Given the description of an element on the screen output the (x, y) to click on. 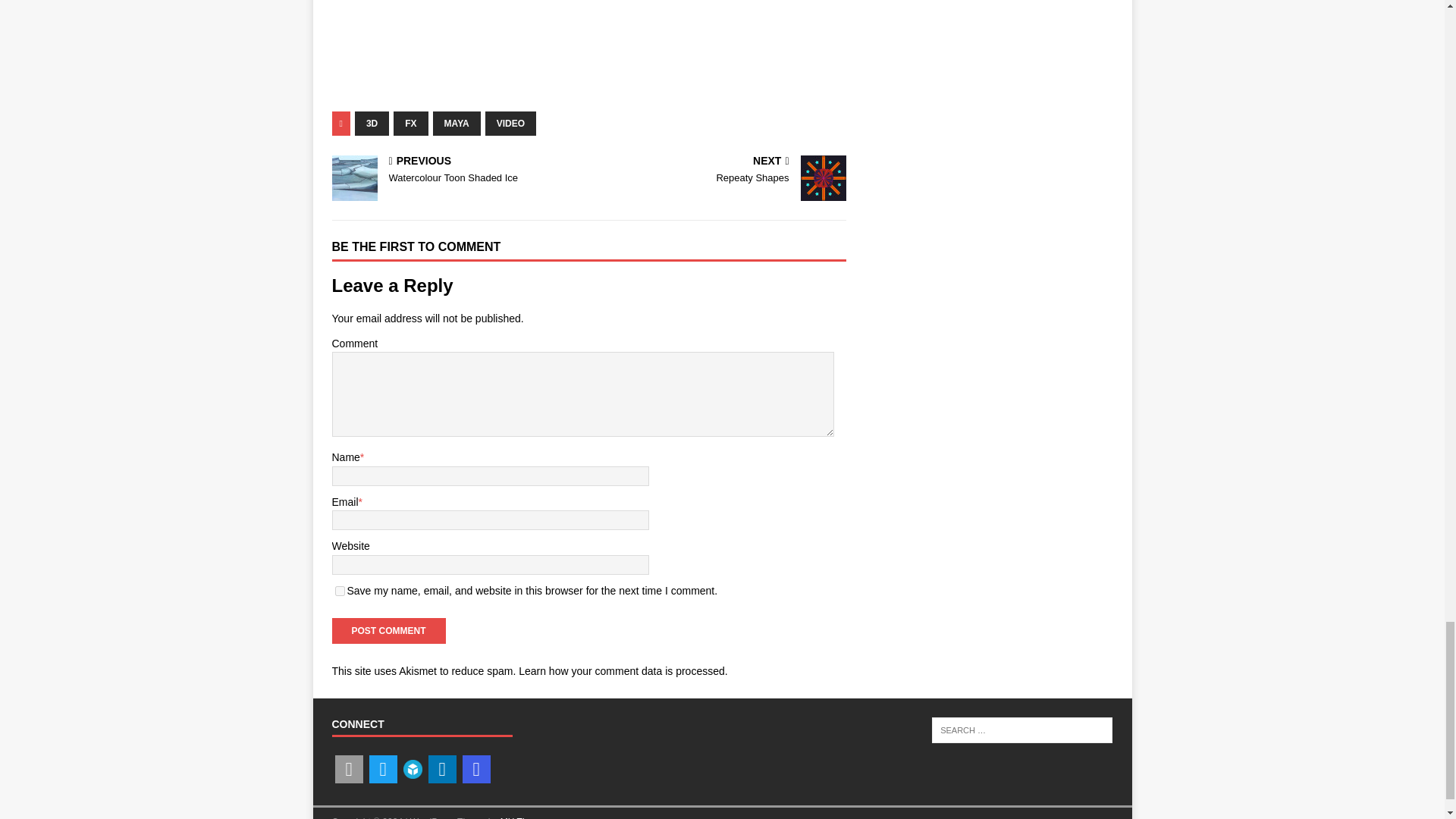
Instagram (476, 768)
Sketchfab (412, 769)
MAYA (456, 123)
VIDEO (509, 123)
Artstation (348, 768)
Learn how your comment data is processed (621, 671)
Twitter (382, 768)
Sketchfab (457, 170)
3D (412, 776)
LinkedIn (371, 123)
Post Comment (441, 768)
yes (388, 630)
Post Comment (339, 591)
